Given the description of an element on the screen output the (x, y) to click on. 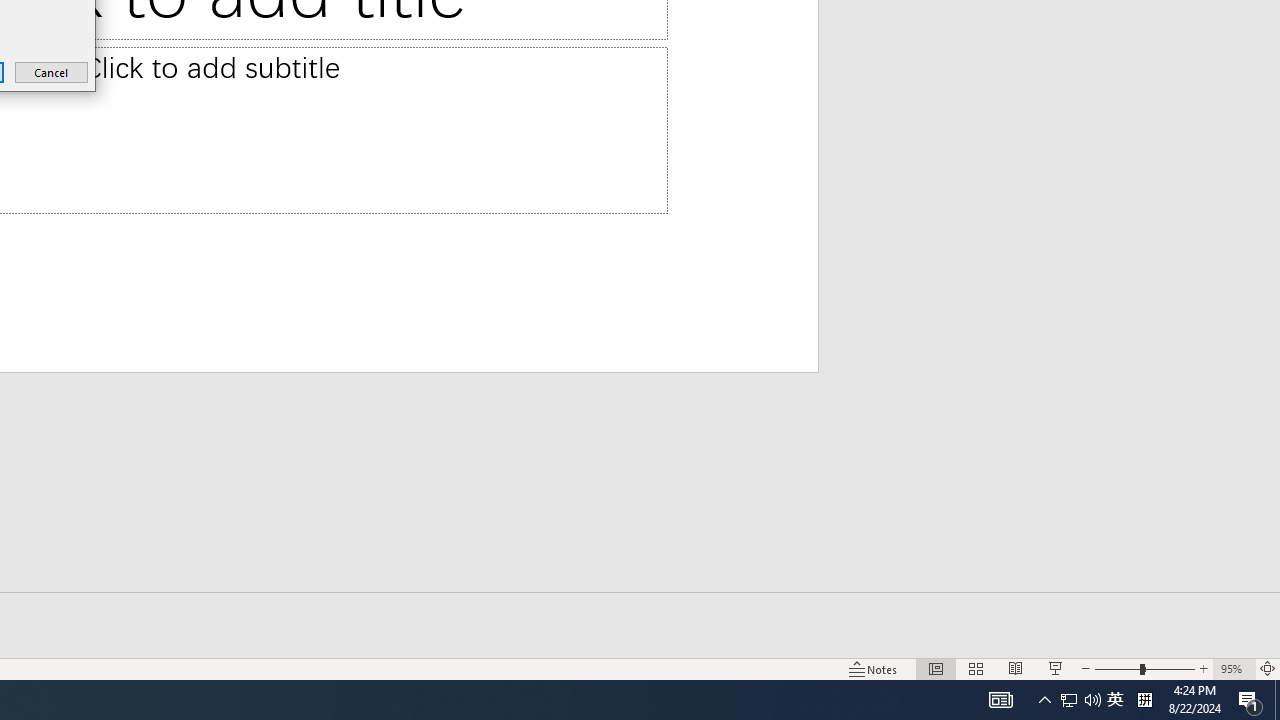
Zoom 95% (1234, 668)
